Given the description of an element on the screen output the (x, y) to click on. 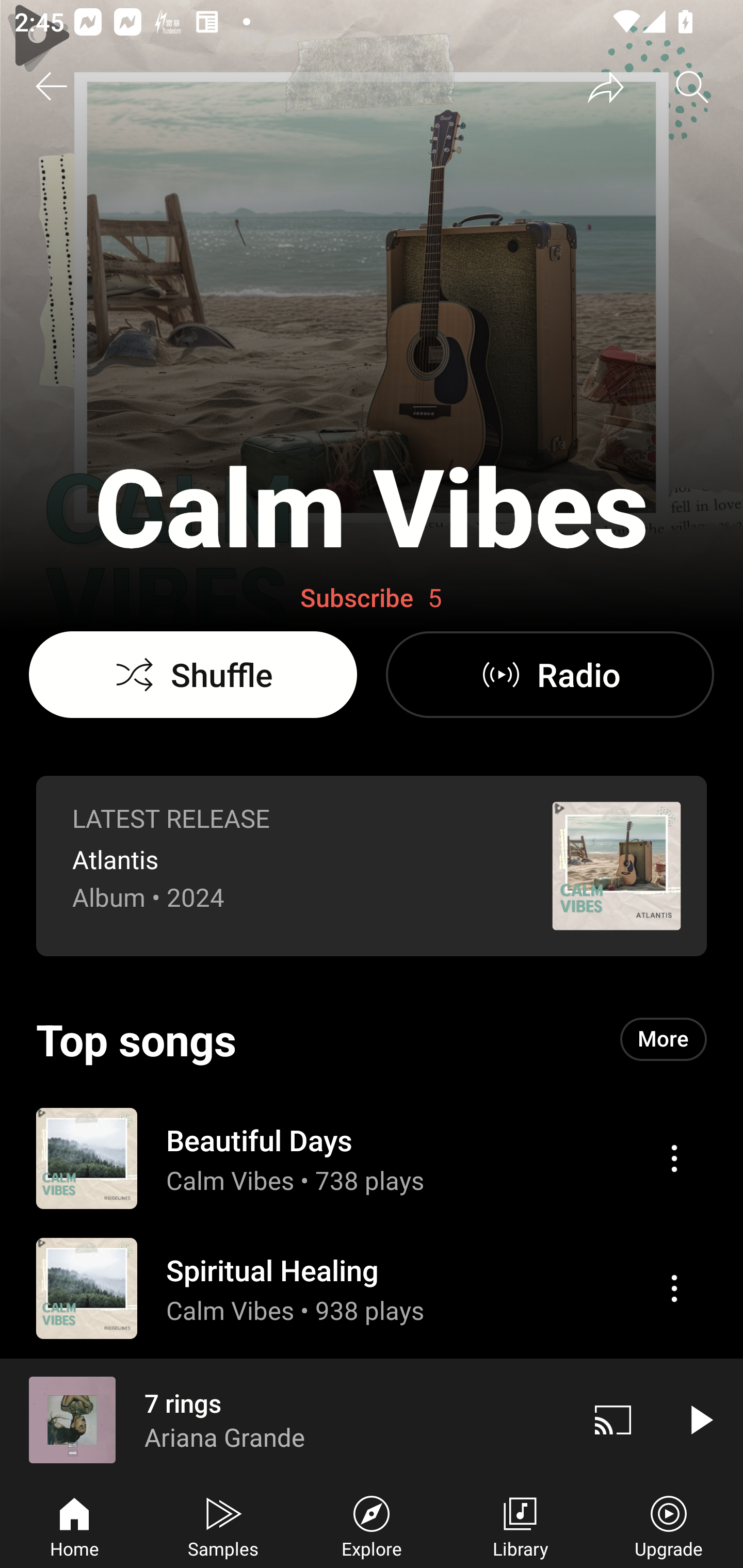
Back (50, 86)
Share (605, 86)
Search (692, 86)
Subscribe 5 (370, 598)
Shuffle (192, 674)
Radio (549, 674)
Action menu (371, 1157)
Action menu (673, 1158)
Action menu (371, 1288)
Action menu (673, 1288)
7 rings Ariana Grande (284, 1419)
Cast. Disconnected (612, 1419)
Play video (699, 1419)
Home (74, 1524)
Samples (222, 1524)
Explore (371, 1524)
Library (519, 1524)
Upgrade (668, 1524)
